Given the description of an element on the screen output the (x, y) to click on. 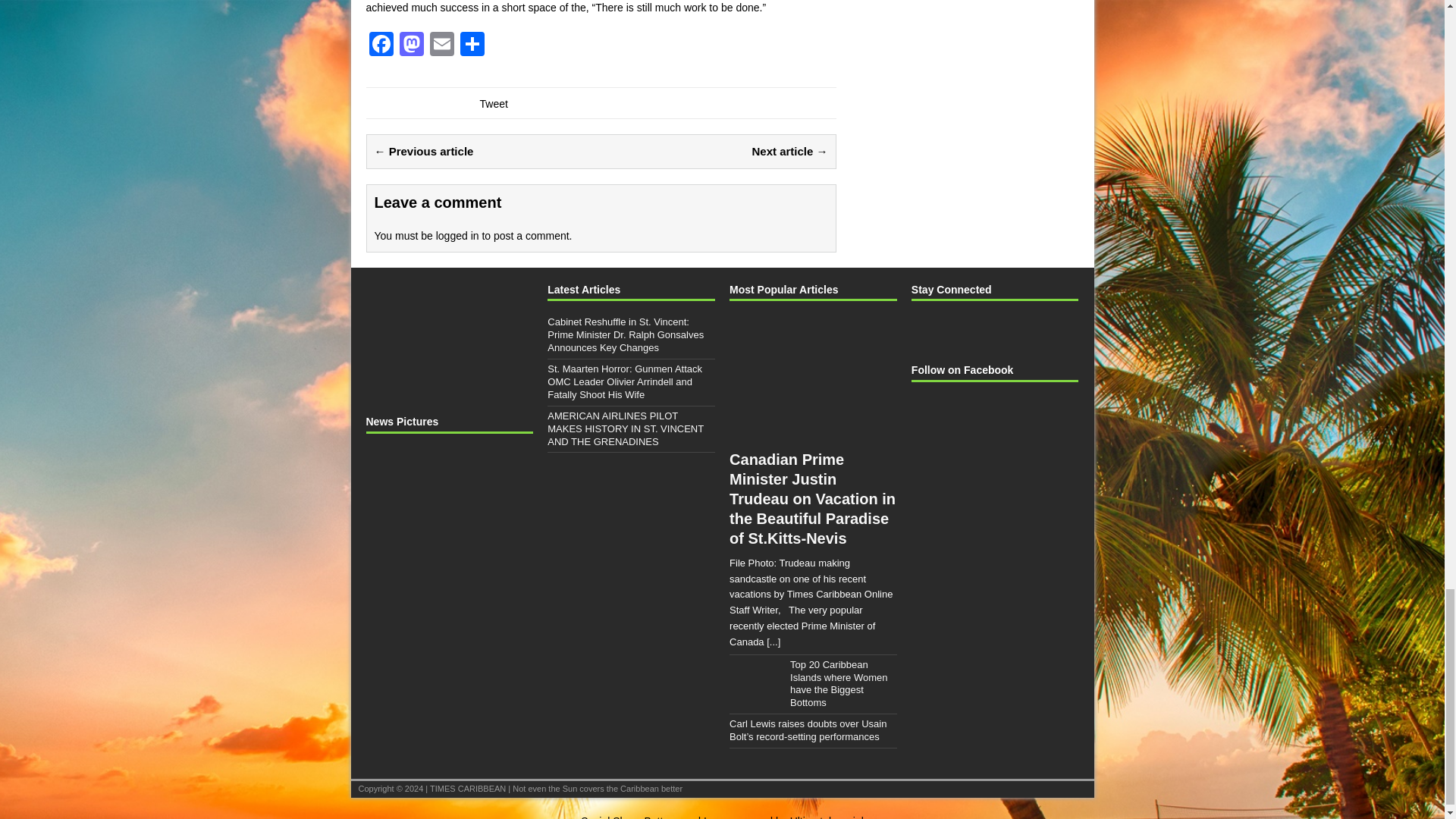
St.Kitts-Nevis  CBI Unit discusses its strategy with the IMF (448, 480)
Email (441, 45)
Mastodon (411, 45)
Facebook (380, 45)
TWO VISITORS TEST POSITIVE FOR COVID-19 IN ANGUILLA (392, 522)
